Given the description of an element on the screen output the (x, y) to click on. 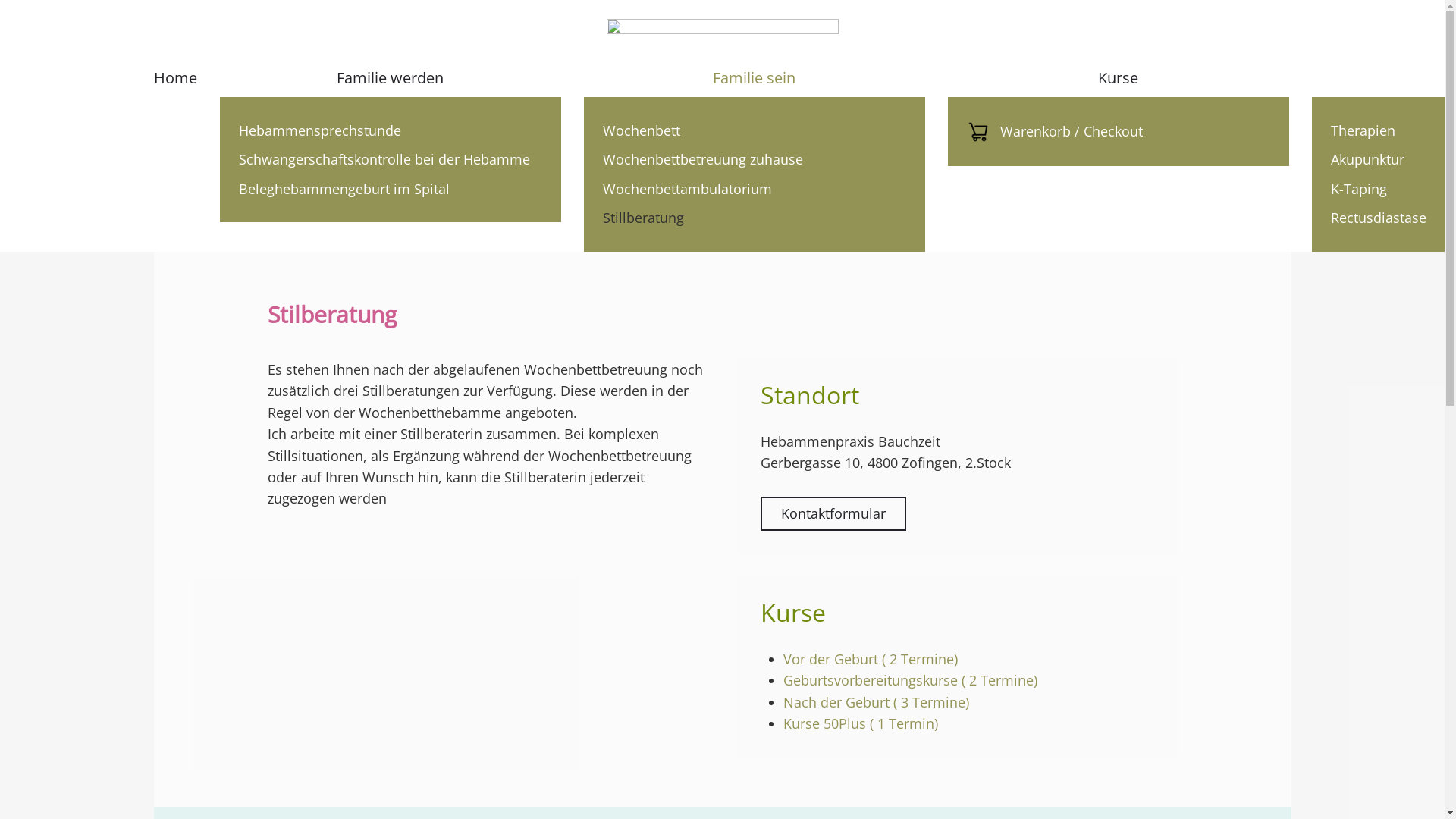
Stillberatung Element type: text (753, 217)
Familie werden Element type: text (390, 78)
Geburtsvorbereitungskurse ( 2 Termine) Element type: text (909, 680)
Schwangerschaftskontrolle bei der Hebamme Element type: text (389, 158)
Familie sein Element type: text (754, 78)
Nach der Geburt ( 3 Termine) Element type: text (875, 702)
Kurse 50Plus ( 1 Termin) Element type: text (859, 723)
Warenkorb / Checkout Element type: text (1117, 131)
Hebammensprechstunde Element type: text (389, 130)
Beleghebammengeburt im Spital Element type: text (389, 188)
Vor der Geburt ( 2 Termine) Element type: text (869, 658)
Kurse Element type: text (1118, 78)
Home Element type: text (174, 78)
Wochenbettambulatorium Element type: text (753, 188)
Wochenbettbetreuung zuhause Element type: text (753, 158)
Kontaktformular Element type: text (832, 513)
Wochenbett Element type: text (753, 130)
